Given the description of an element on the screen output the (x, y) to click on. 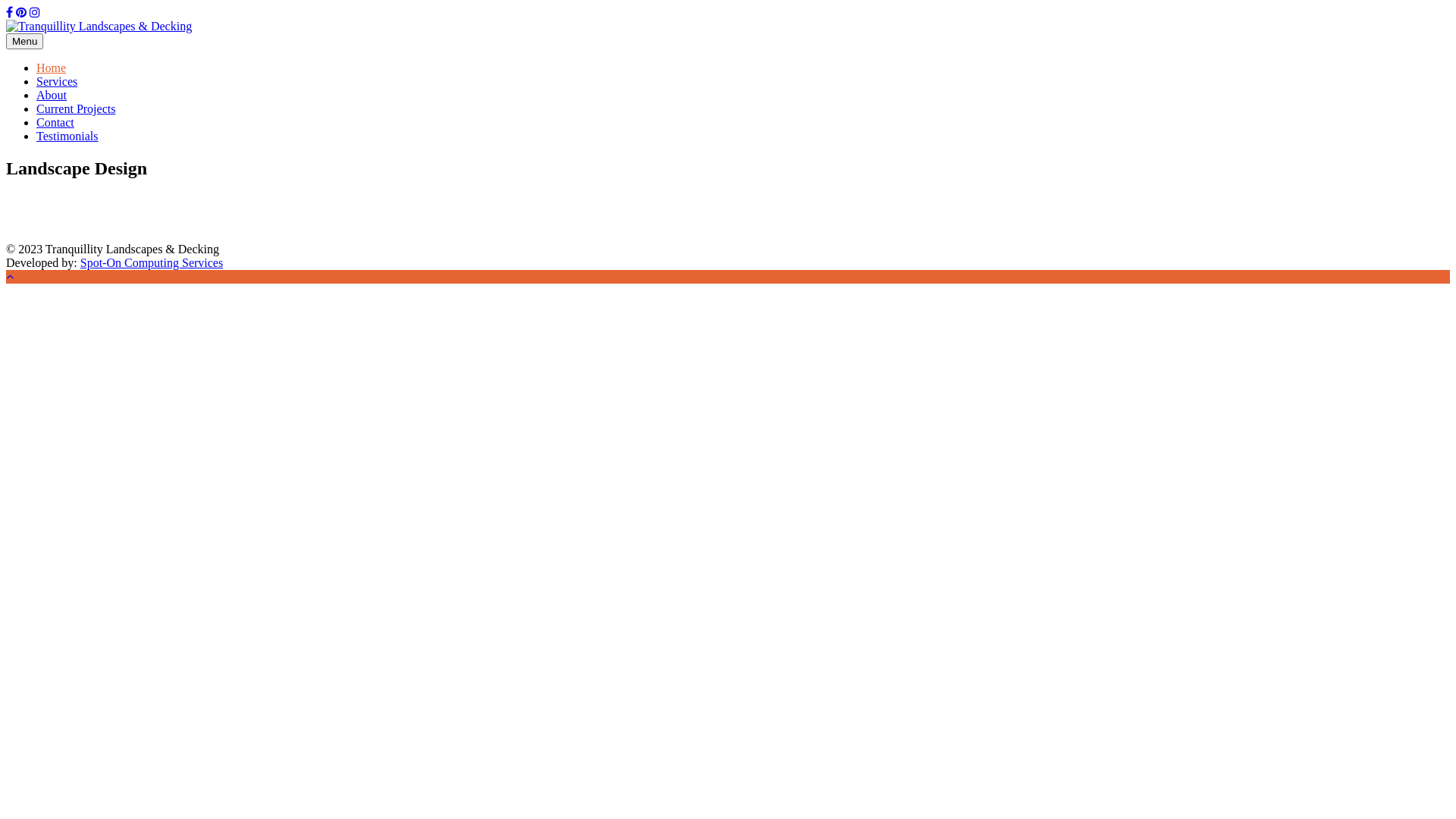
Home Element type: text (50, 67)
Current Projects Element type: text (75, 108)
Contact Element type: text (55, 122)
About Element type: text (51, 94)
Testimonials Element type: text (67, 135)
Menu Element type: text (24, 41)
Spot-On Computing Services Element type: text (151, 262)
Skip to content Element type: text (5, 5)
Services Element type: text (56, 81)
